Given the description of an element on the screen output the (x, y) to click on. 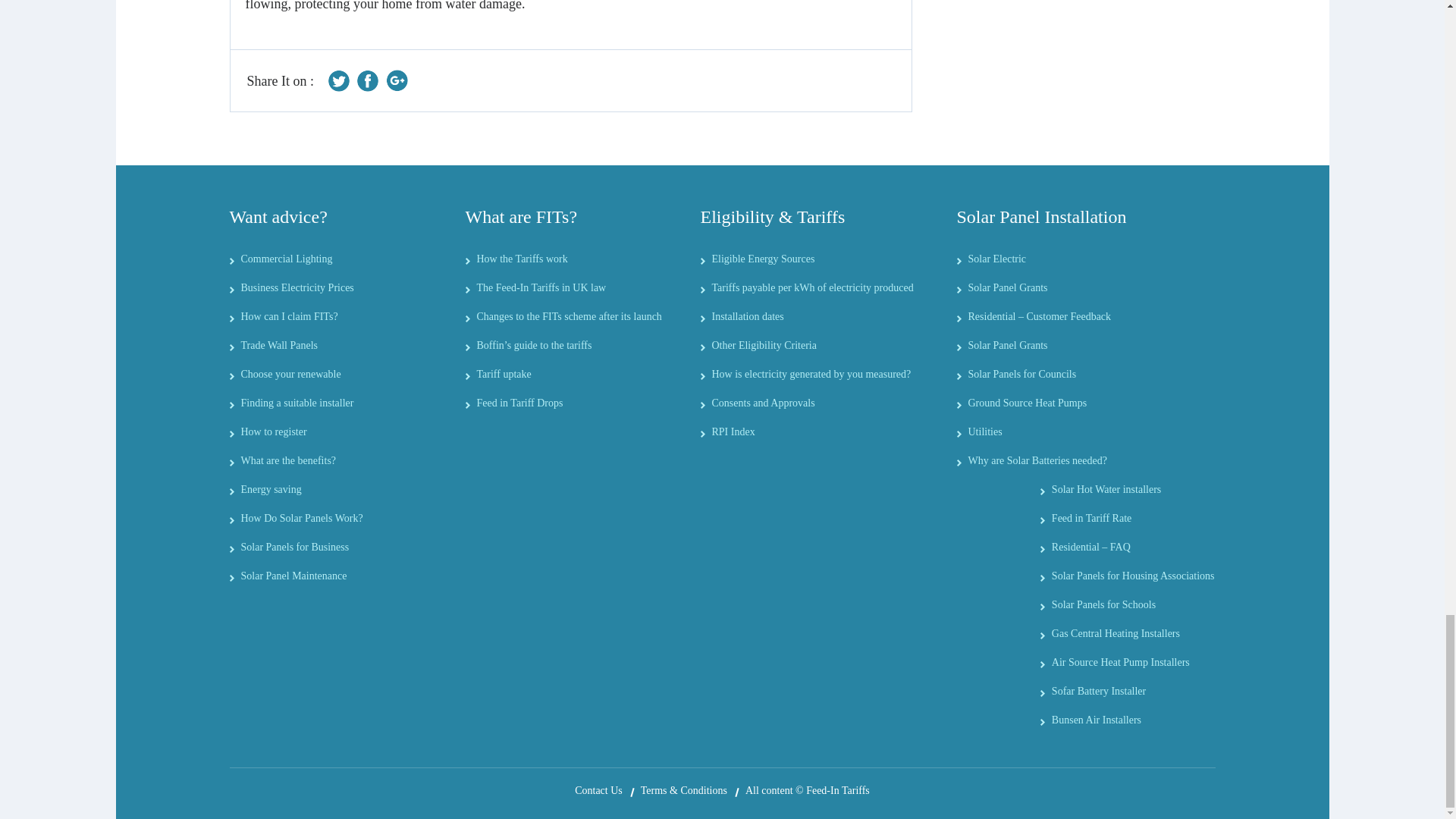
Commercial Lighting (287, 258)
Twitter (339, 80)
Business Electricity Prices (297, 287)
Facebook (367, 80)
Google (396, 80)
